Given the description of an element on the screen output the (x, y) to click on. 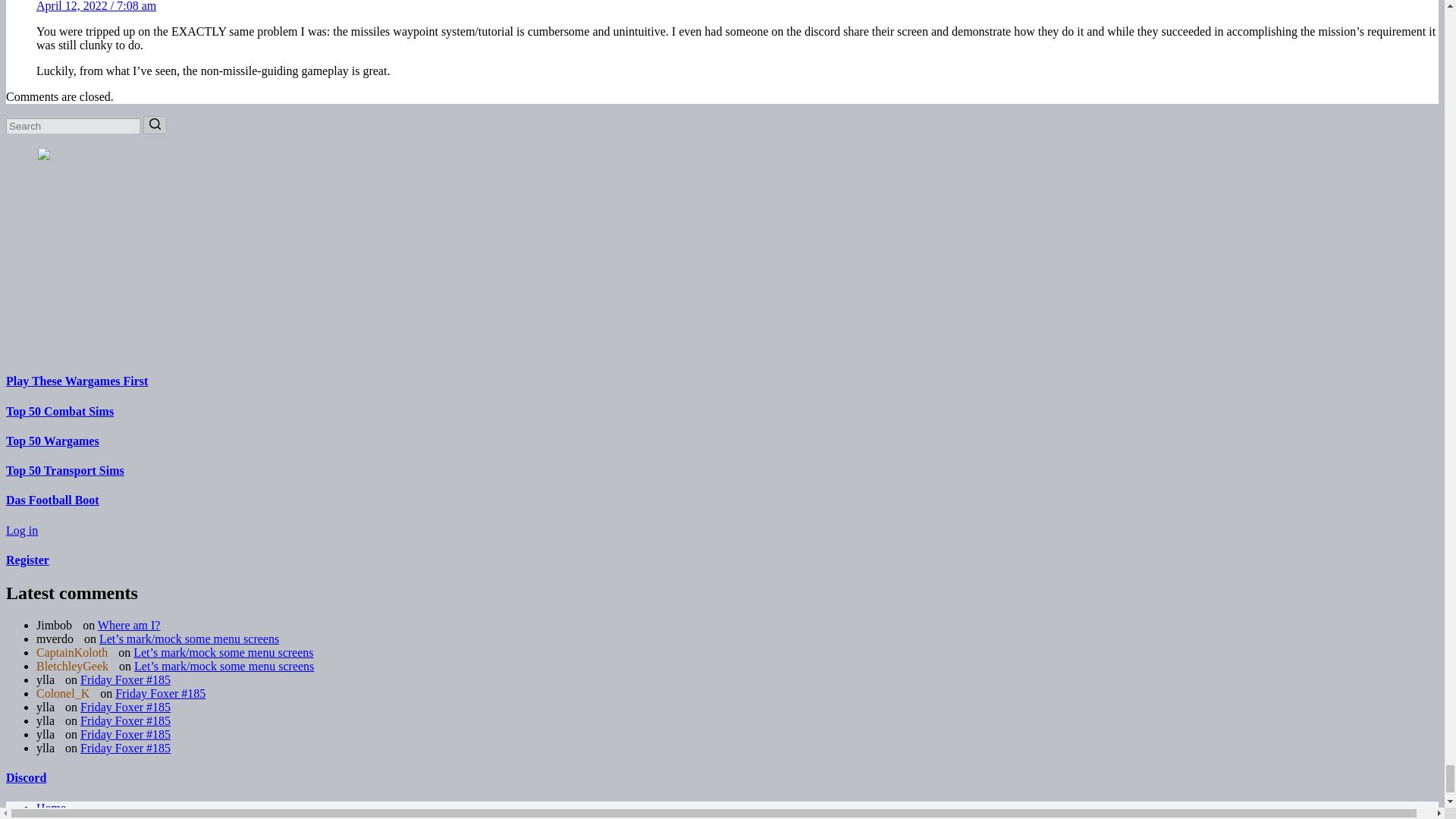
Search Input (72, 125)
